Given the description of an element on the screen output the (x, y) to click on. 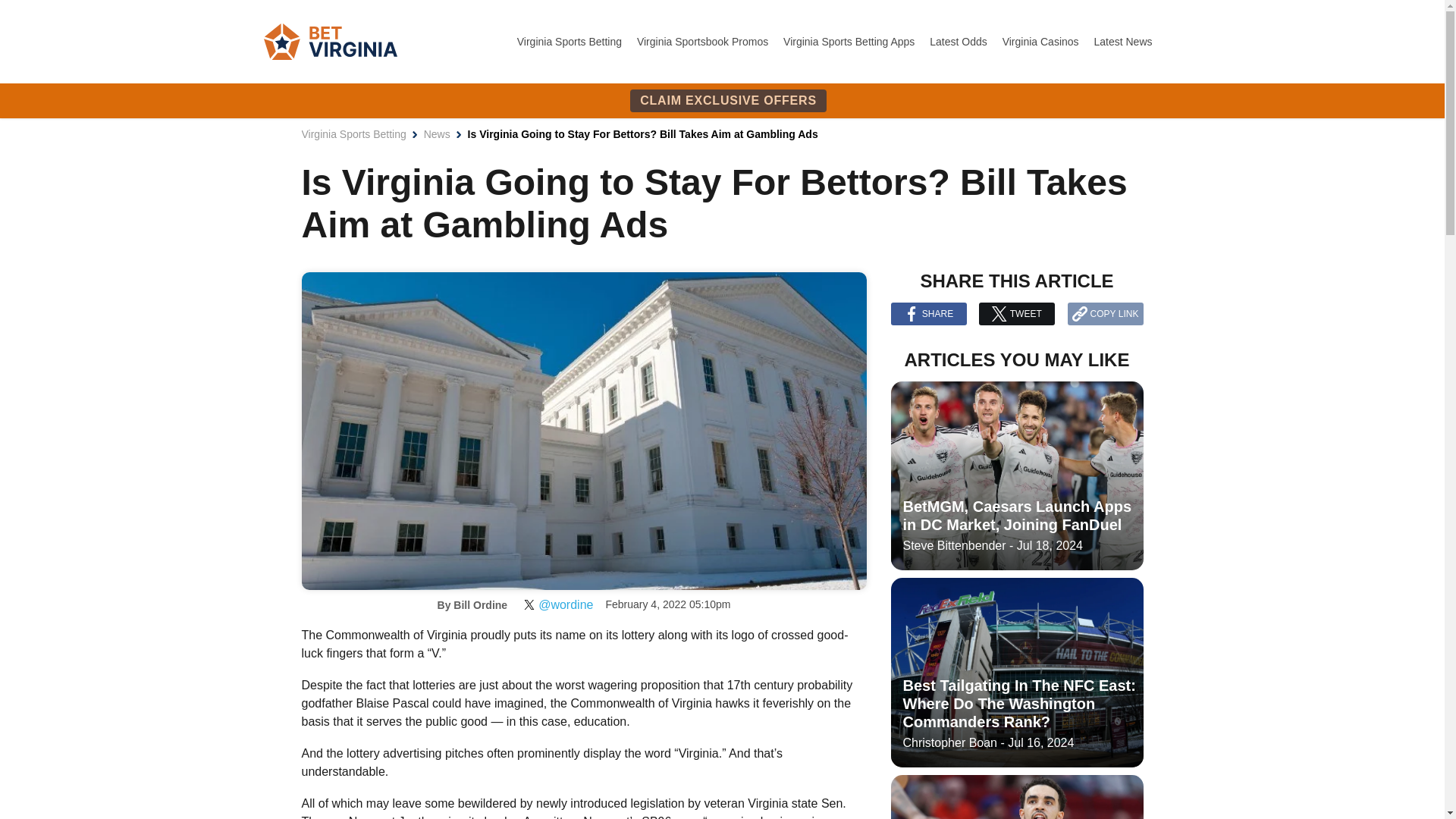
Virginia Sports Betting Apps (850, 41)
Virginia Sports Betting (353, 133)
Tyus Jones NBA Free Agent Odds (1015, 796)
BetMGM, Caesars Launch Apps in DC Market, Joining FanDuel (1015, 475)
Latest Odds (960, 41)
Virginia Sportsbook Promos (704, 41)
Virginia Sports Betting (570, 41)
BetVirginia.com logo (330, 41)
News (436, 133)
Virginia Casinos (1042, 41)
